Given the description of an element on the screen output the (x, y) to click on. 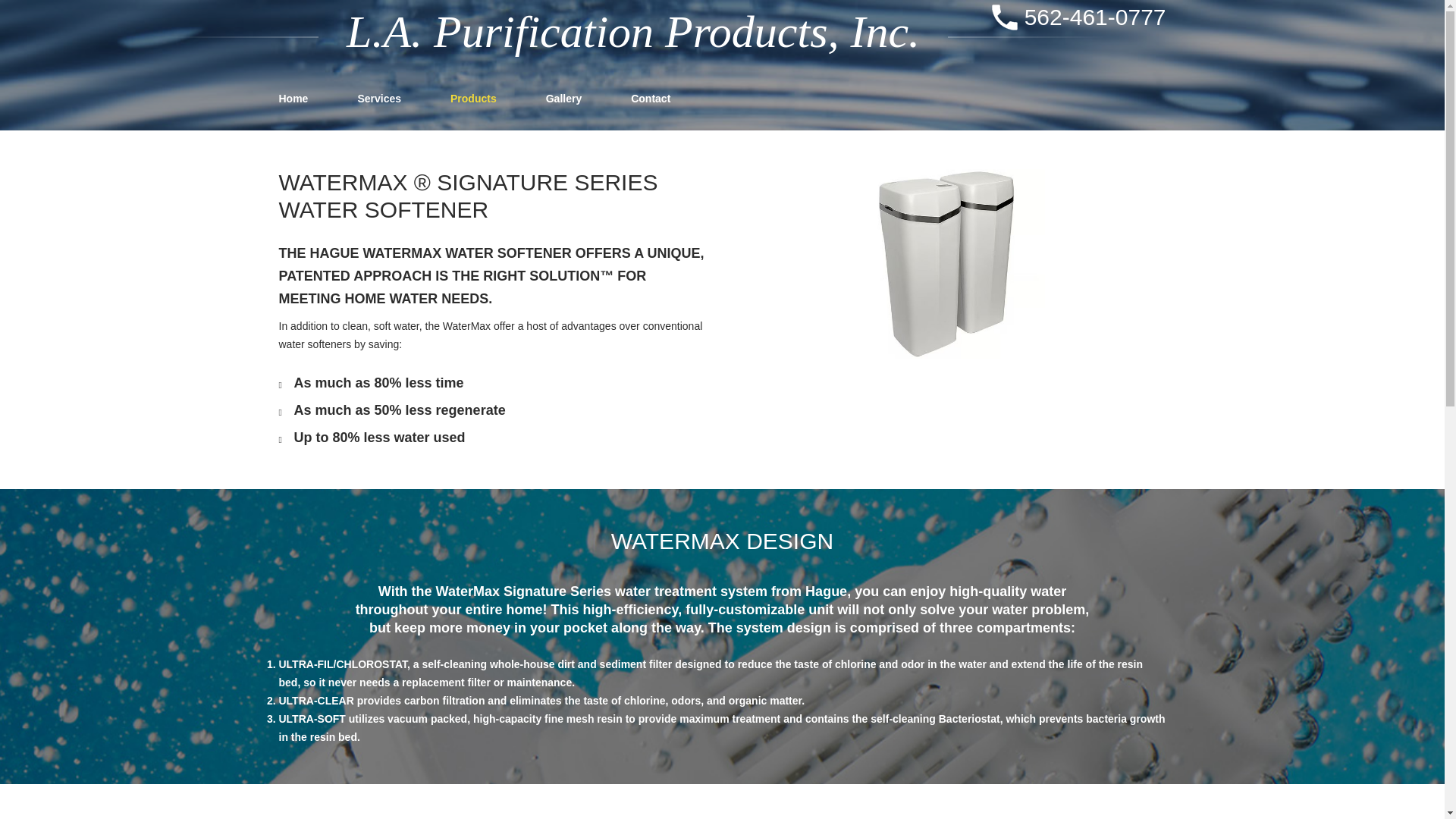
L.A. Purification Products, Inc. (633, 31)
Gallery (563, 98)
Products (472, 98)
562-461-0777 (1095, 16)
Services (378, 98)
Home (293, 98)
Contact (649, 98)
